Given the description of an element on the screen output the (x, y) to click on. 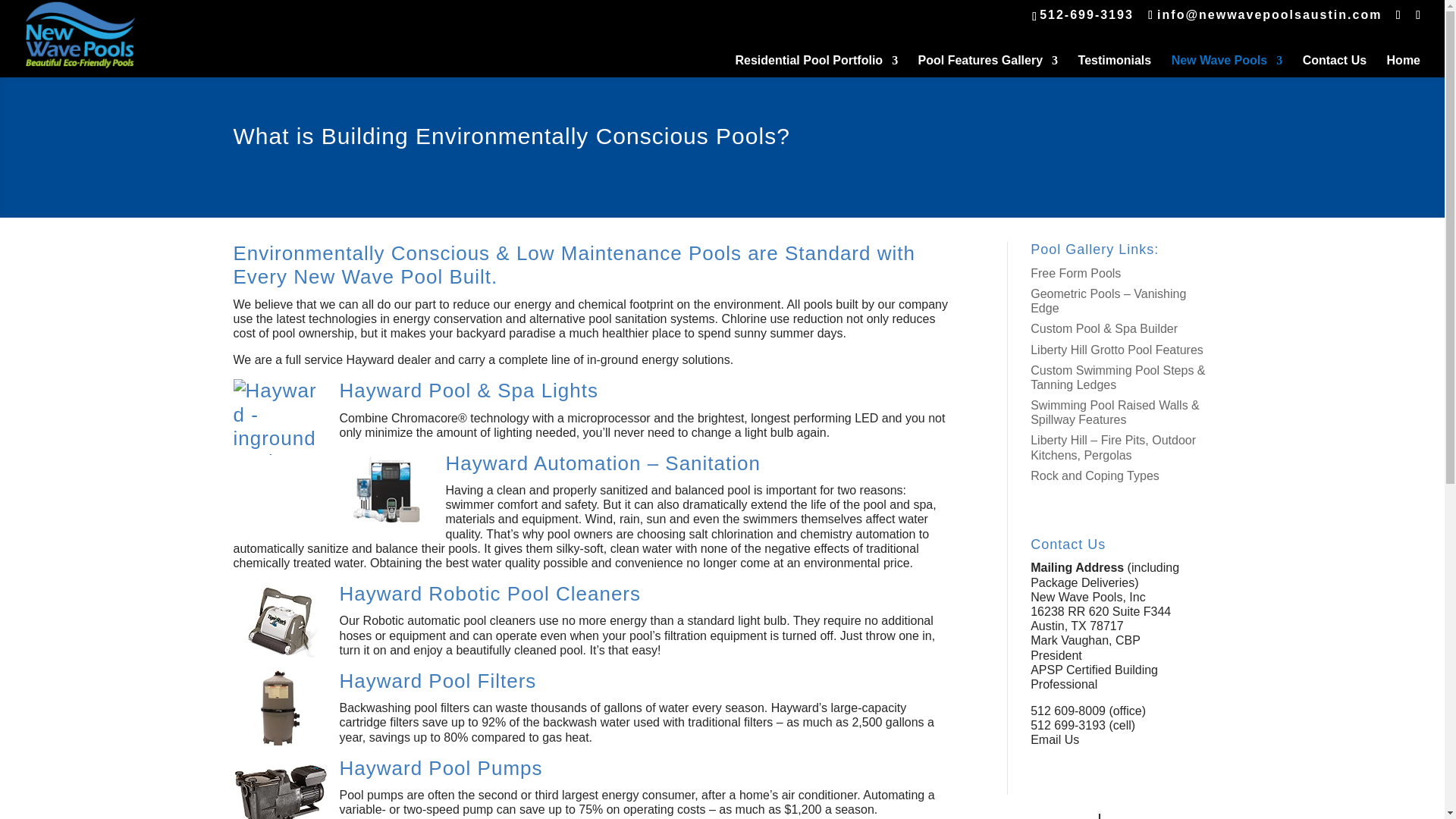
Email Us (1054, 739)
Home (1404, 65)
512 699-3193 (1067, 725)
Rock and Coping Types (1094, 475)
Pool Features Gallery (988, 65)
Free Form Pools (1075, 273)
512-699-3193 (1086, 14)
New Wave Pools (1227, 65)
Residential Pool Portfolio (816, 65)
Contact Us (1335, 65)
